Given the description of an element on the screen output the (x, y) to click on. 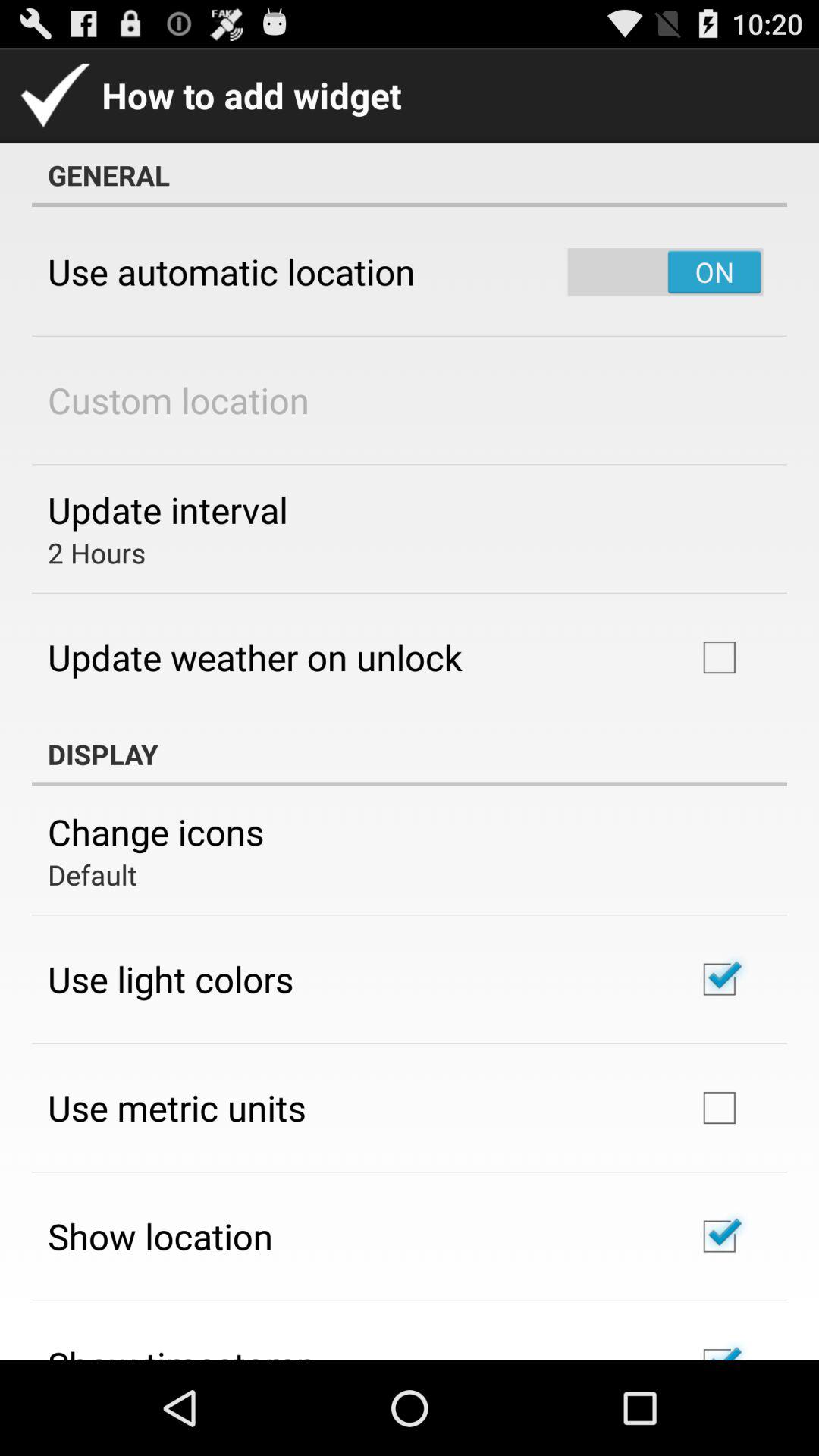
jump to general item (409, 175)
